Given the description of an element on the screen output the (x, y) to click on. 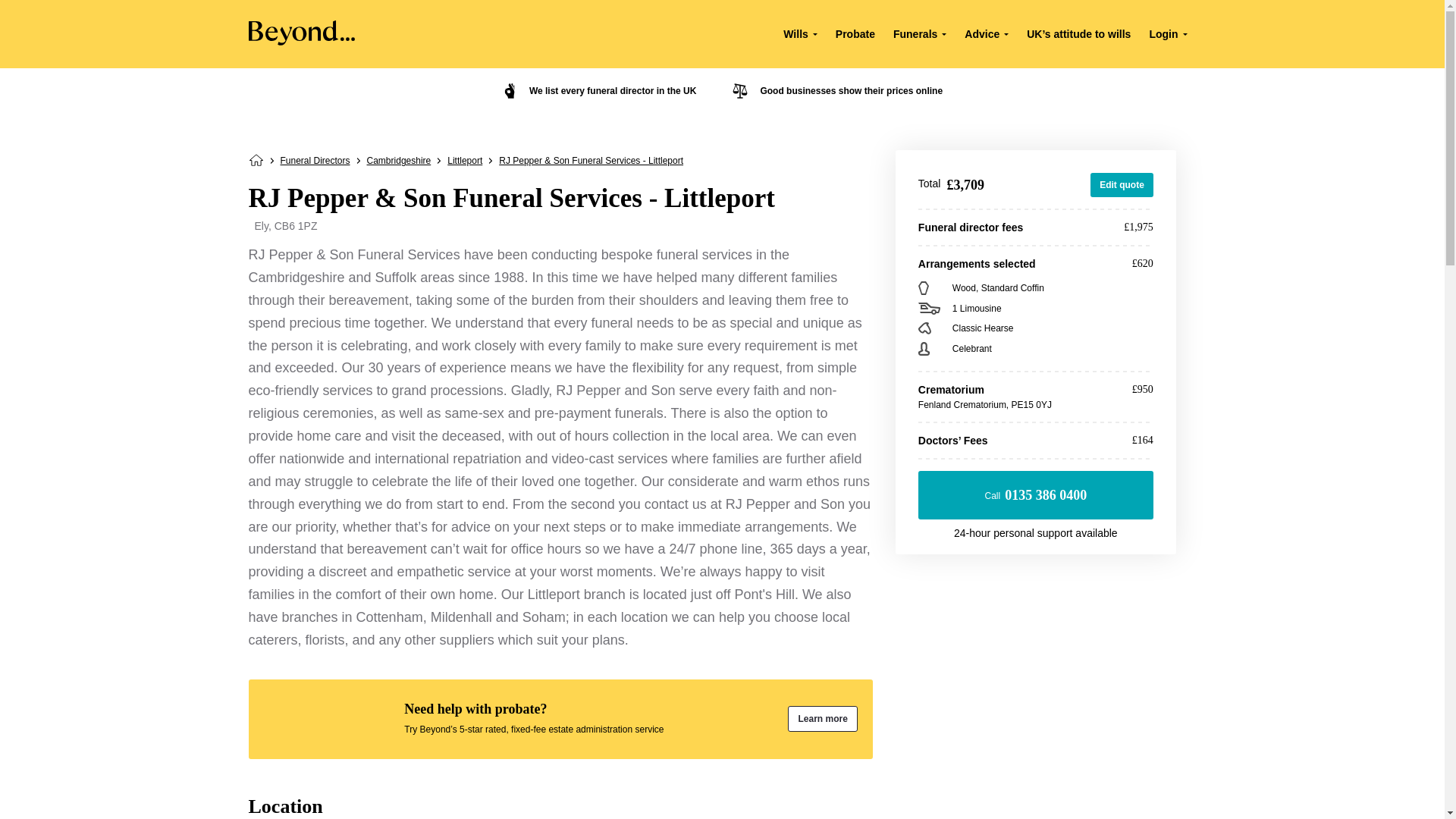
Cambridgeshire (398, 160)
Funeral Directors (315, 160)
Back to homepage (255, 163)
Funeral Directors (315, 160)
Littleport (463, 160)
Beyond (301, 41)
Learn more (822, 718)
Homepage (255, 163)
Probate (855, 33)
Littleport (463, 160)
Cambridgeshire (398, 160)
